Given the description of an element on the screen output the (x, y) to click on. 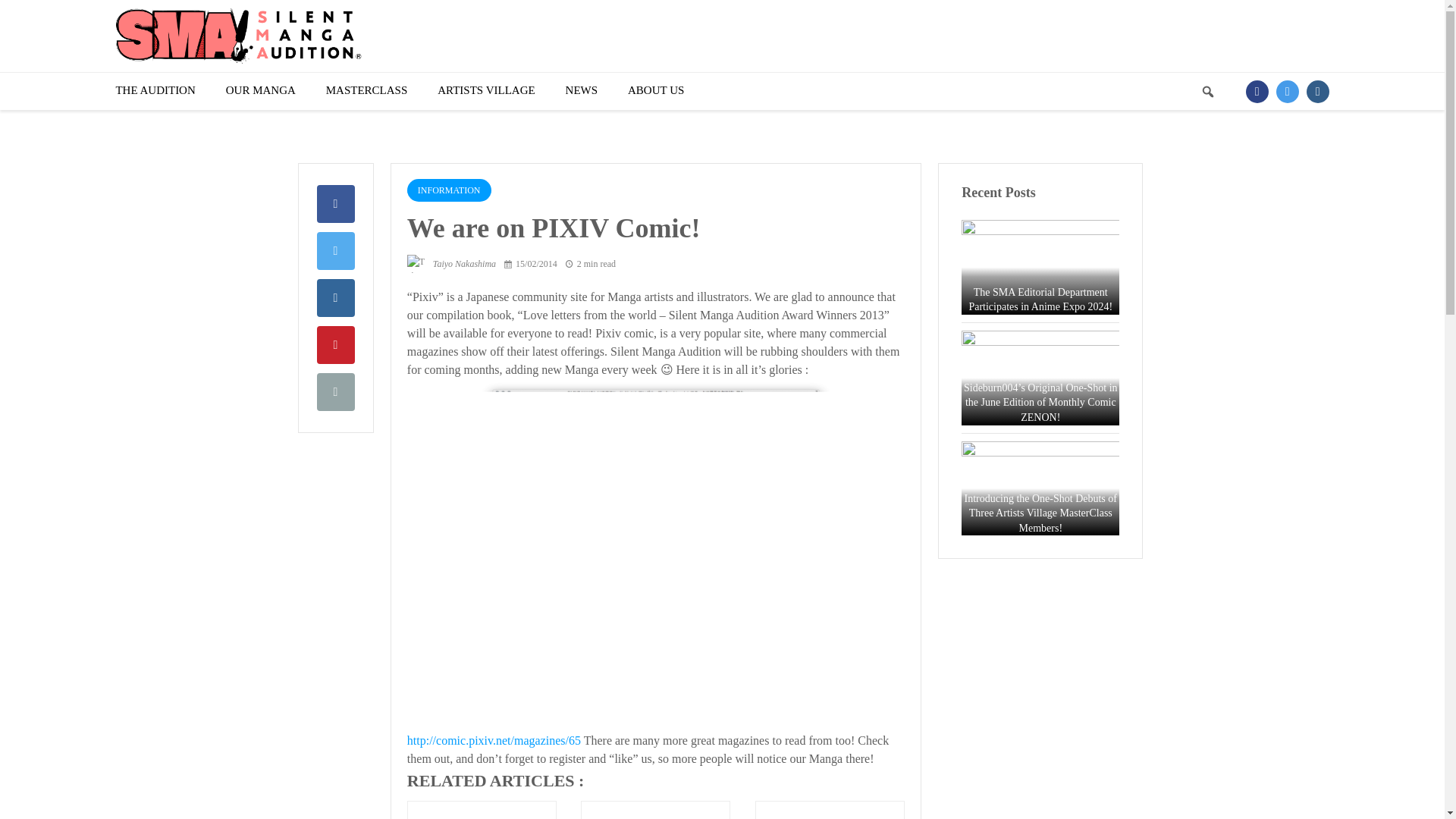
OUR MANGA (260, 90)
MASTERCLASS (366, 90)
THE AUDITION (155, 90)
NEWS (582, 90)
ARTISTS VILLAGE (486, 90)
ABOUT US (655, 90)
